Given the description of an element on the screen output the (x, y) to click on. 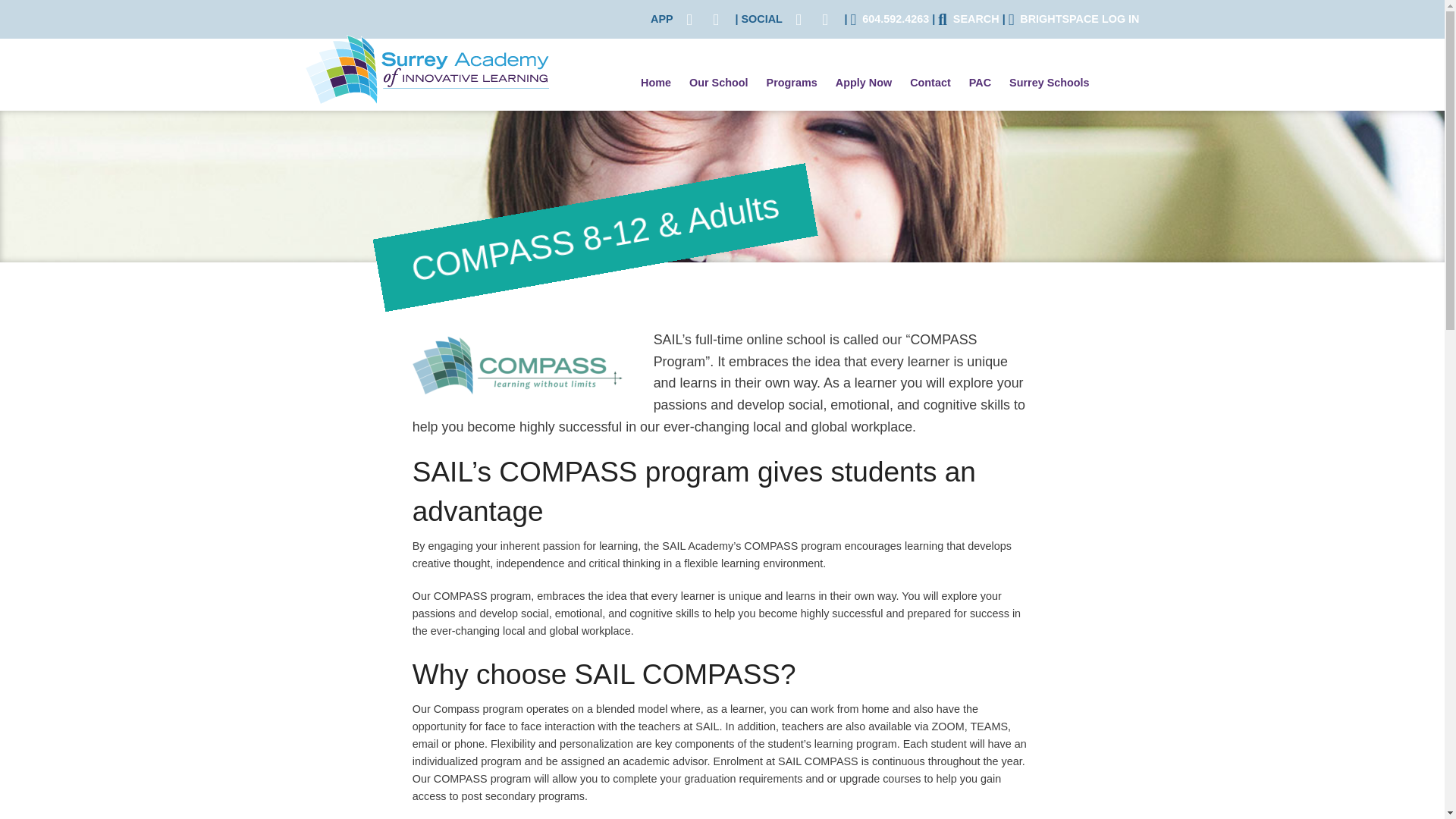
Programs (791, 82)
Contact (930, 82)
PAC (979, 82)
604.592.4263 (890, 18)
SEARCH (967, 18)
Surrey Schools (1049, 82)
Apply Now (863, 82)
iTunes App Store (688, 18)
Twitter (799, 18)
Home (655, 82)
